Given the description of an element on the screen output the (x, y) to click on. 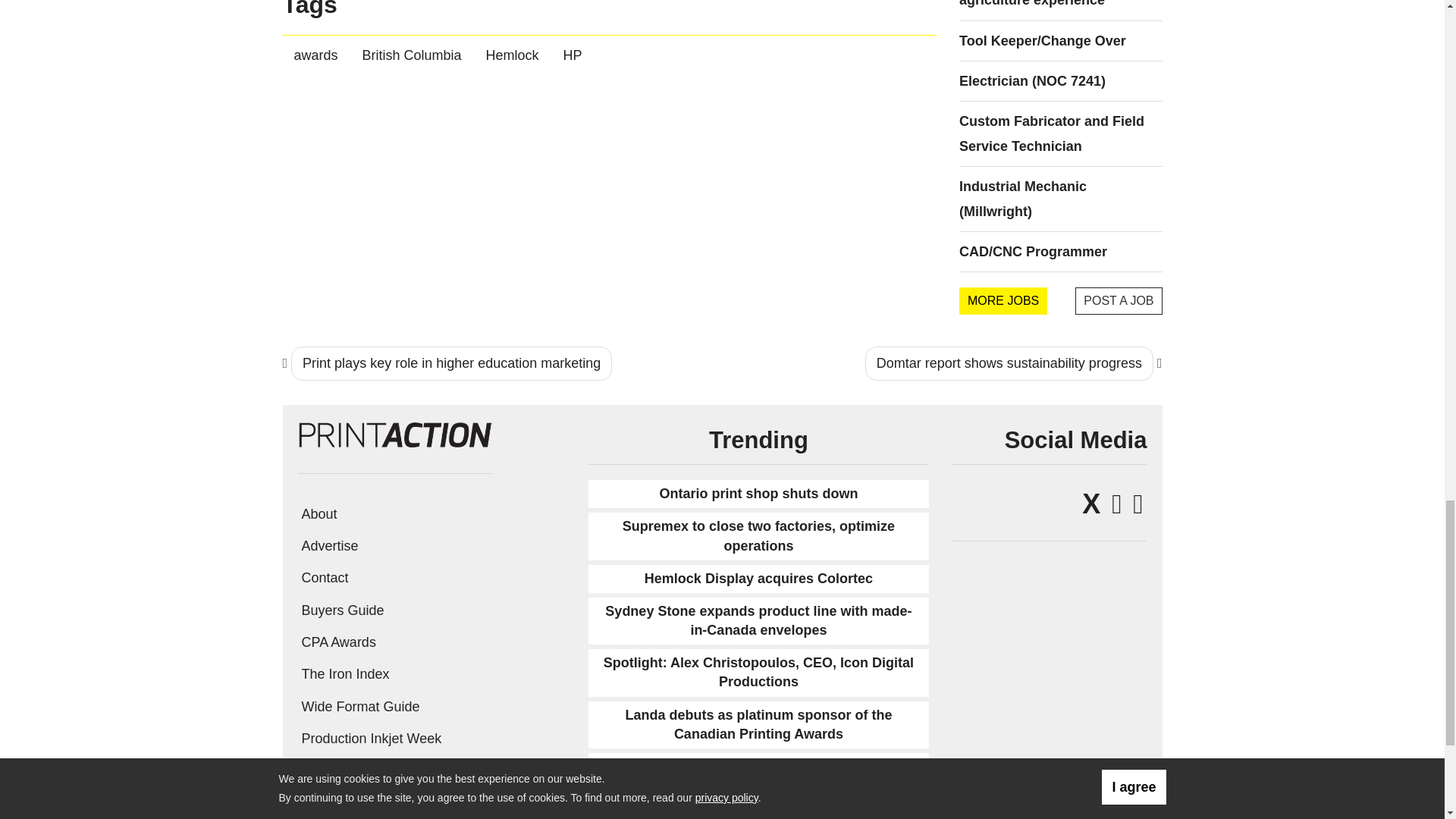
PrintAction (395, 432)
